Given the description of an element on the screen output the (x, y) to click on. 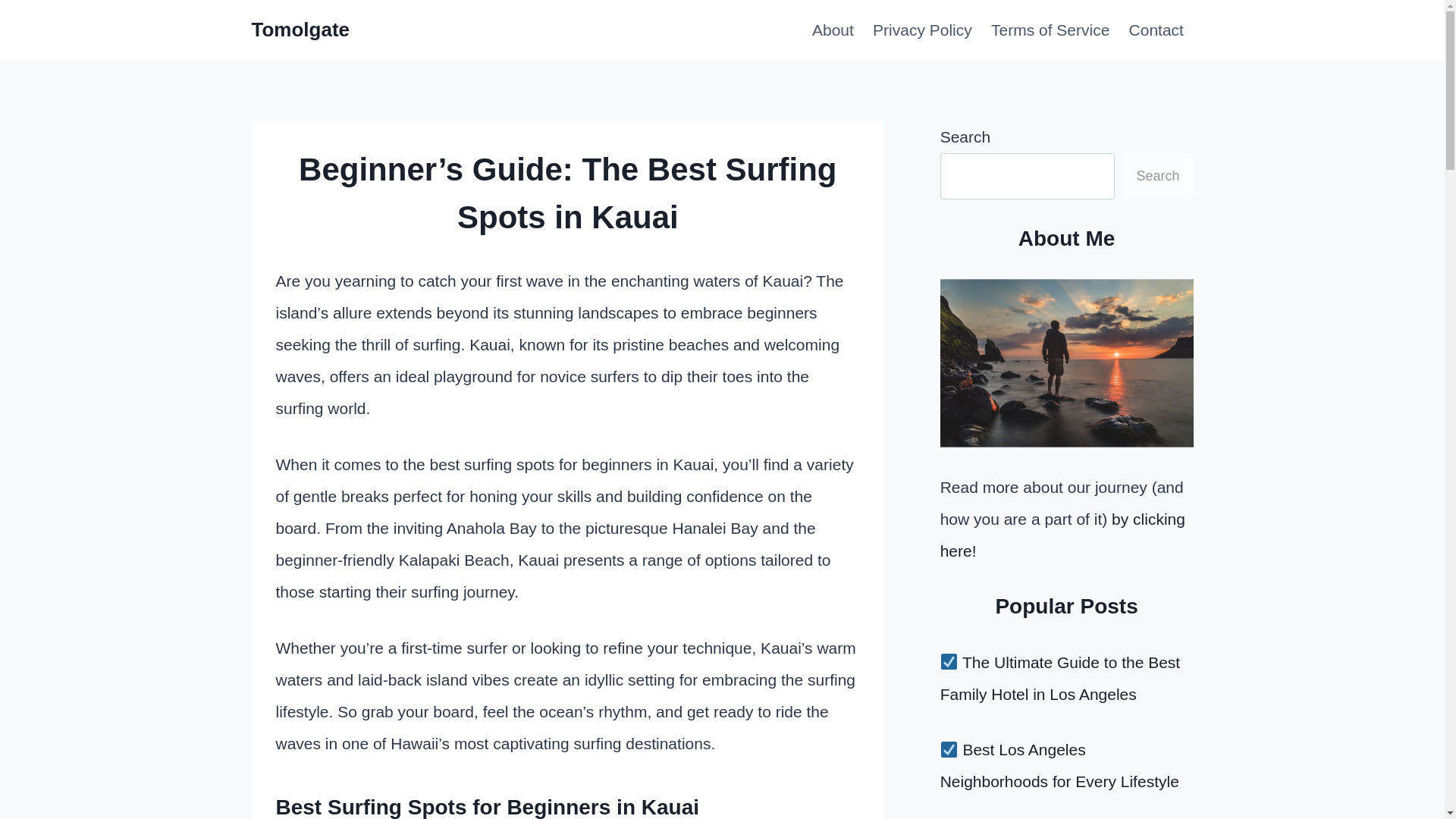
Contact (1156, 29)
by clicking here! (1062, 534)
Search (1157, 176)
The Ultimate Guide to the Best Family Hotel in Los Angeles (1060, 677)
Tomolgate (300, 29)
Terms of Service (1050, 29)
About (832, 29)
Privacy Policy (922, 29)
Best Los Angeles Neighborhoods for Every Lifestyle (1059, 765)
